Given the description of an element on the screen output the (x, y) to click on. 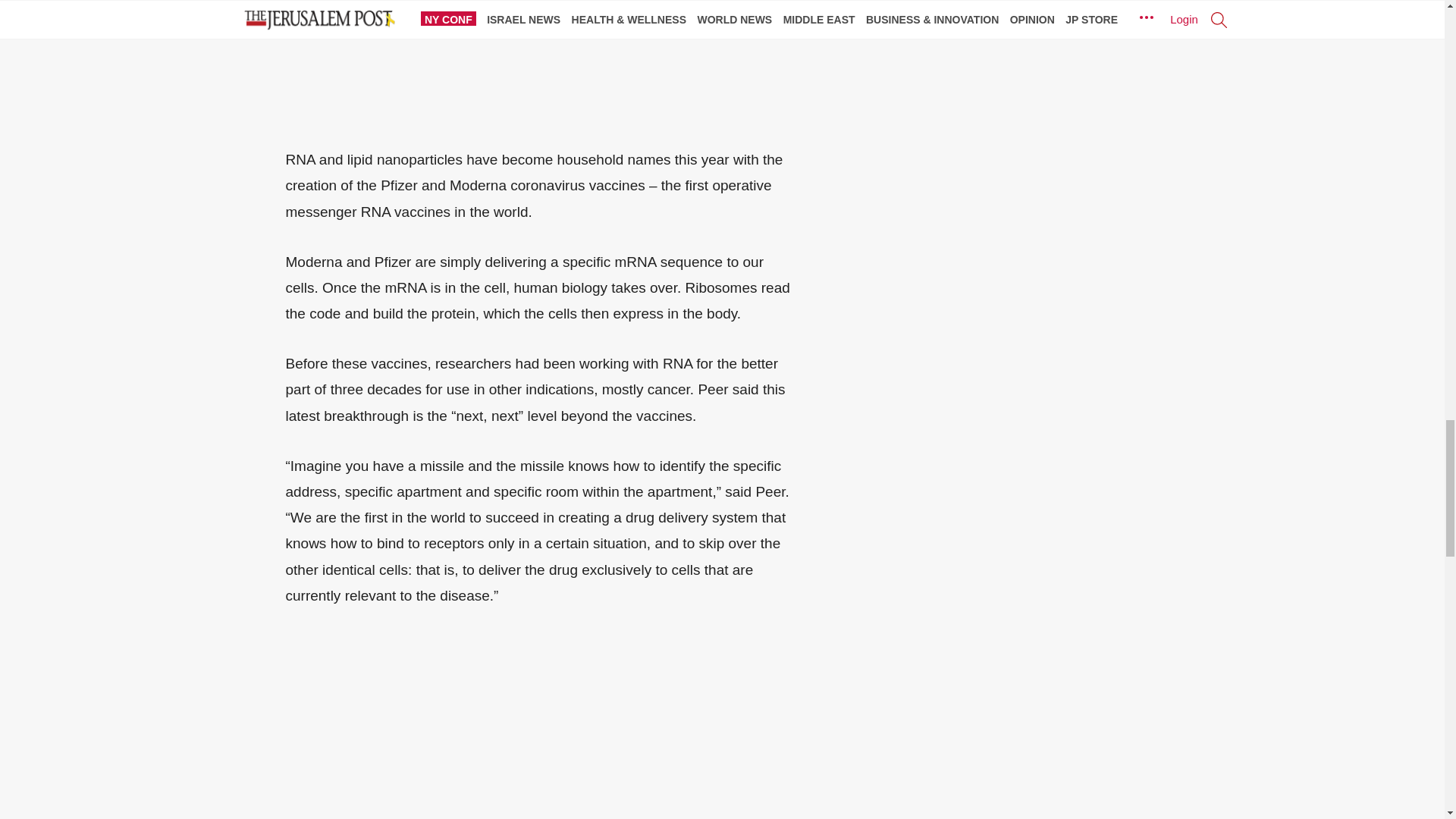
YouTube video player (497, 61)
